Given the description of an element on the screen output the (x, y) to click on. 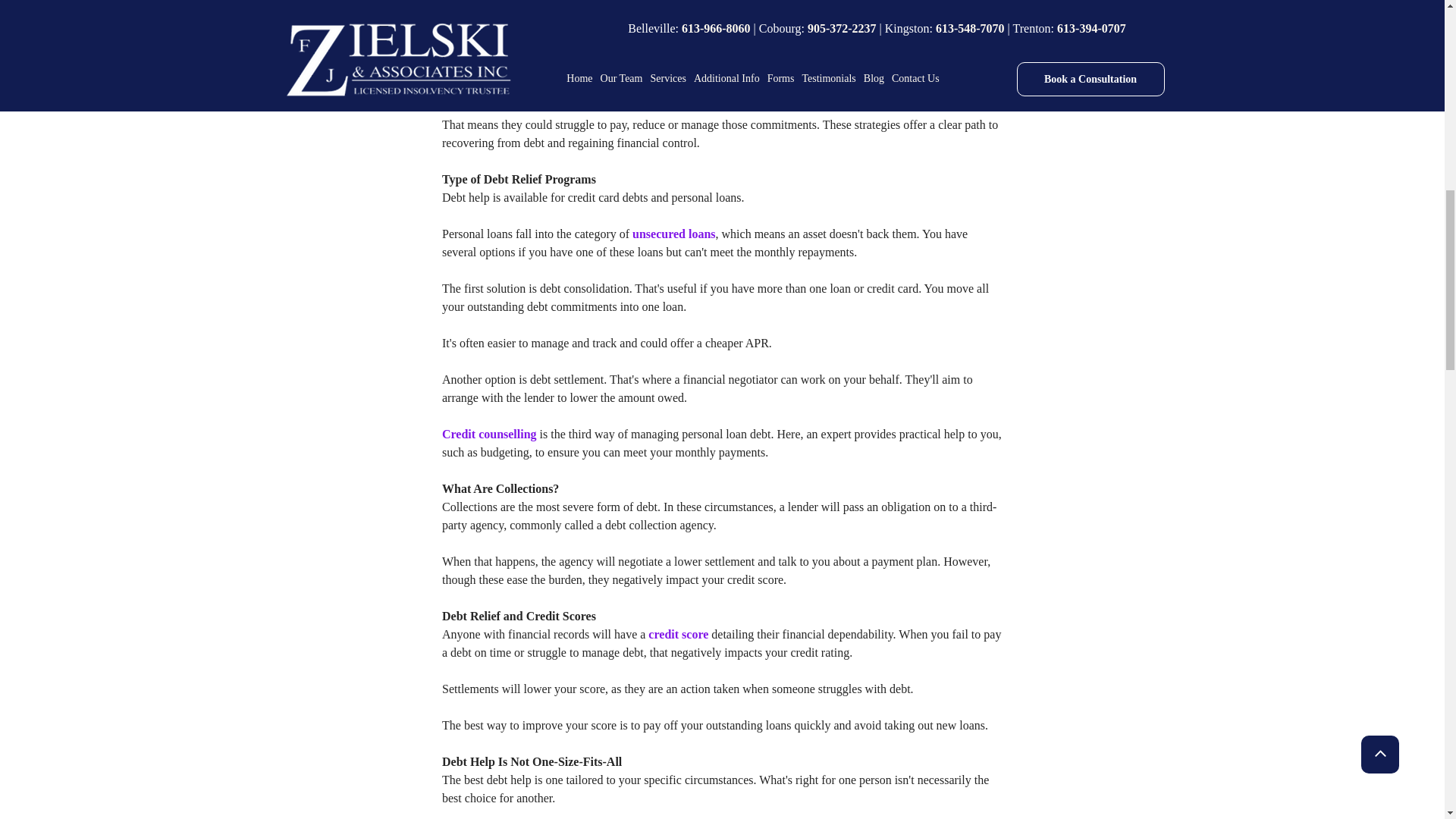
credit score (677, 634)
debt strategies (682, 69)
Credit counselling (488, 433)
unsecured loans (673, 233)
